Given the description of an element on the screen output the (x, y) to click on. 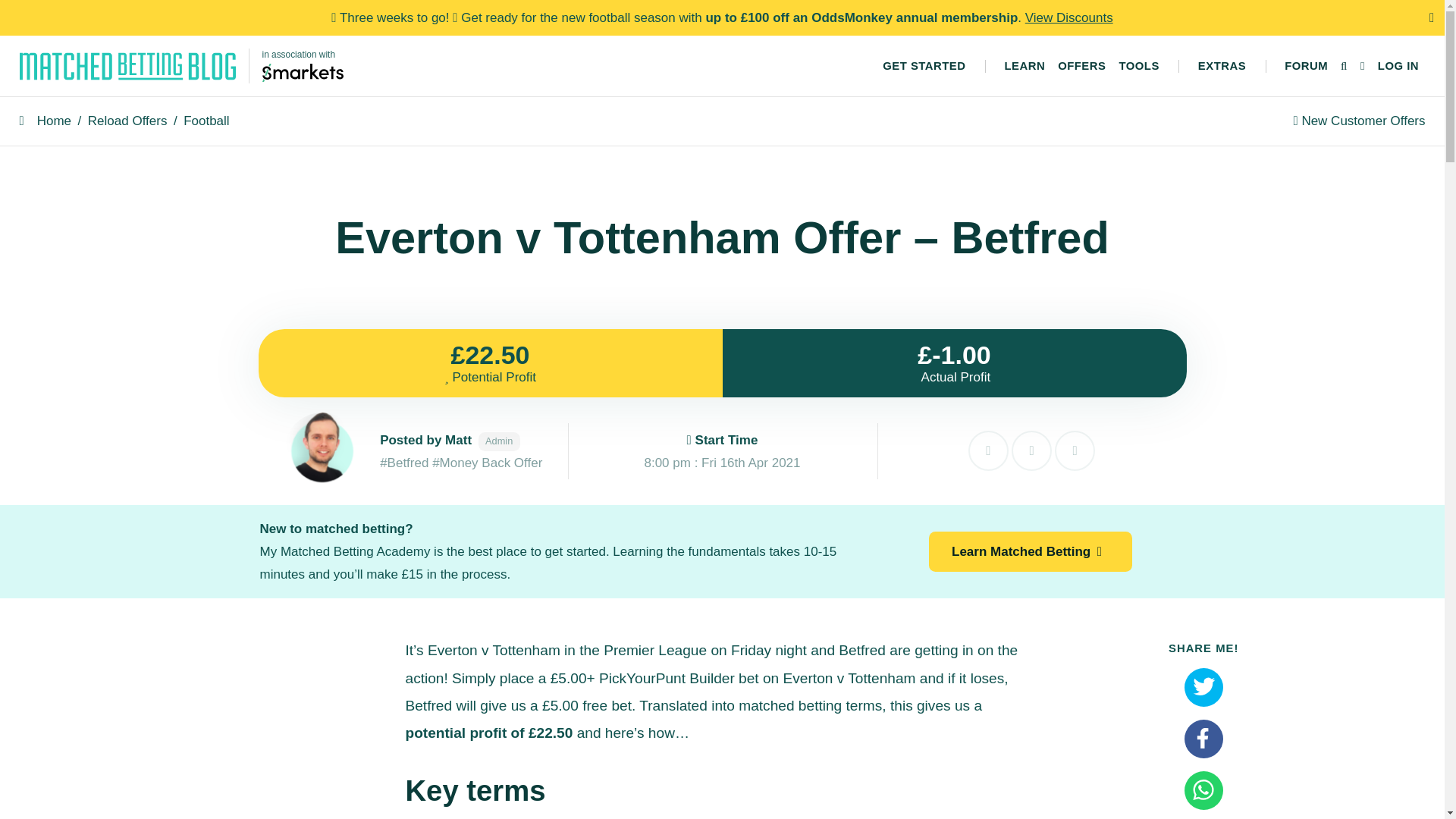
Get Started (924, 65)
OFFERS (1081, 65)
Extras (1221, 65)
View Discounts (1069, 17)
TOOLS (1139, 65)
Learn (1024, 65)
Tools (1139, 65)
Mark as 'in progress' (1031, 450)
Mark as complete (1074, 450)
Forum (1306, 65)
GET STARTED (924, 65)
EXTRAS (1221, 65)
Hide offer (988, 450)
Log in (1398, 65)
Offers (1081, 65)
